Given the description of an element on the screen output the (x, y) to click on. 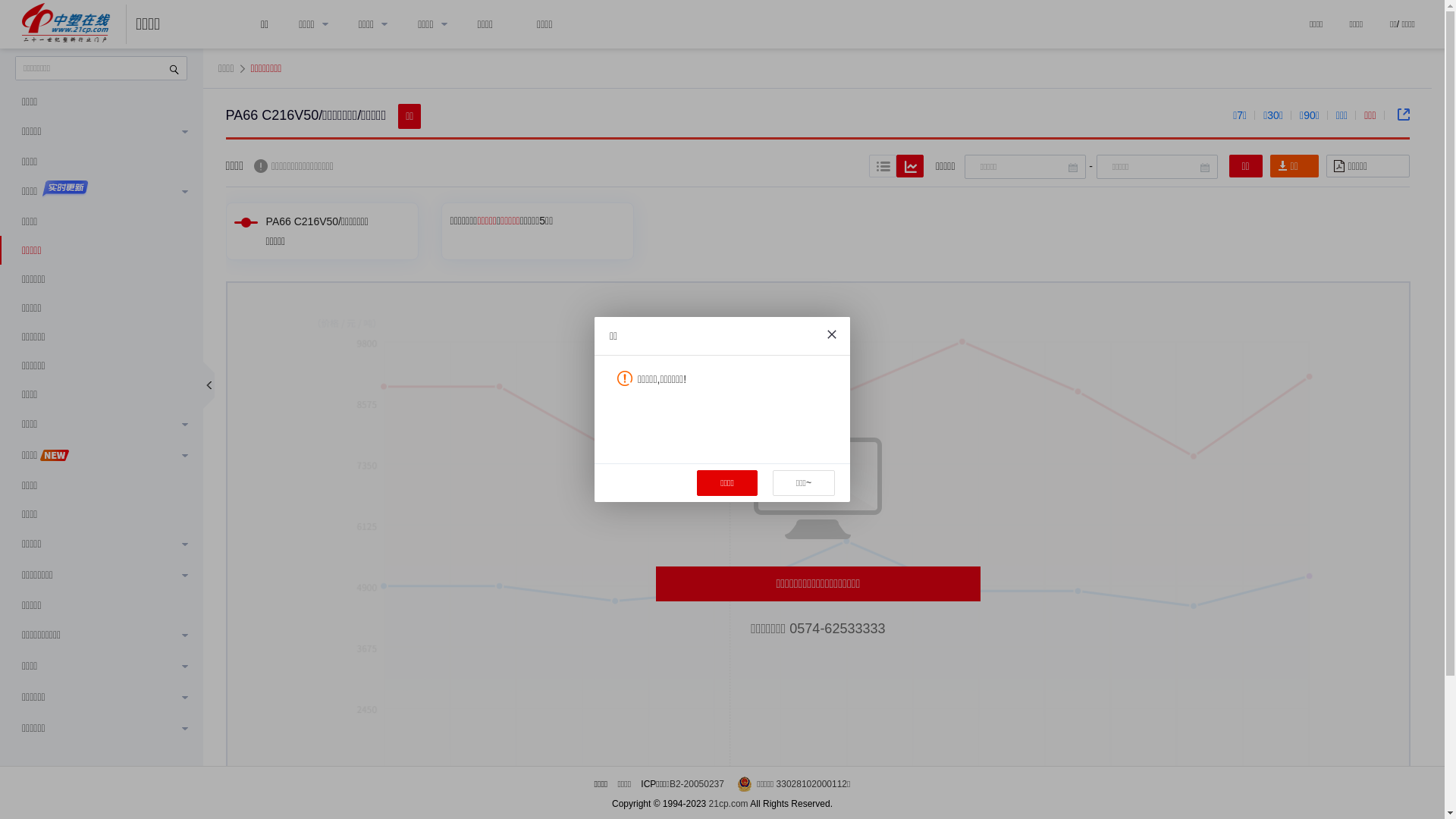
21cp.com Element type: text (728, 803)
